Given the description of an element on the screen output the (x, y) to click on. 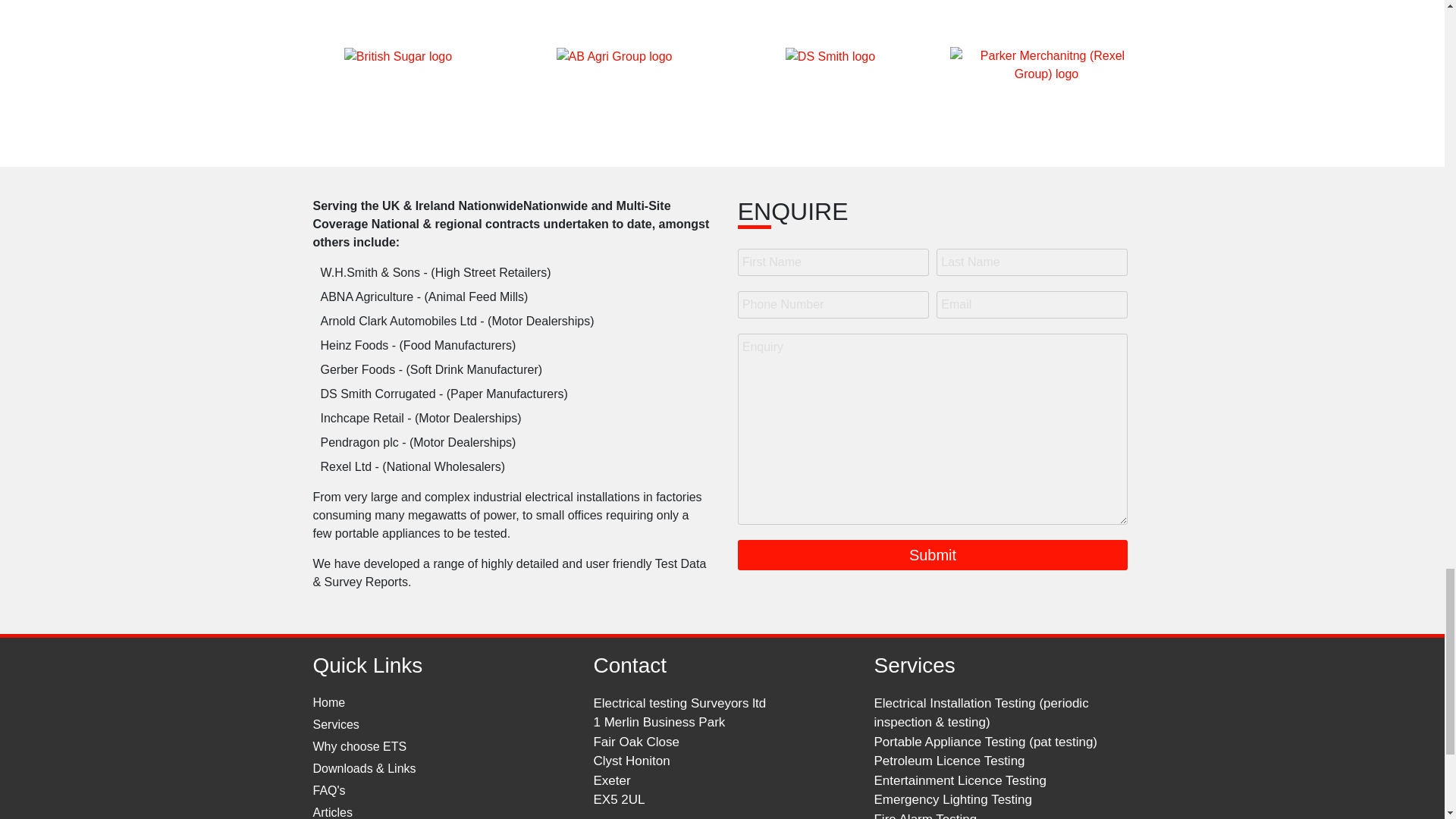
Submit (933, 554)
Services (335, 724)
Submit (933, 554)
Home (329, 702)
Why choose ETS (359, 746)
FAQ's (329, 789)
Articles (332, 812)
